Given the description of an element on the screen output the (x, y) to click on. 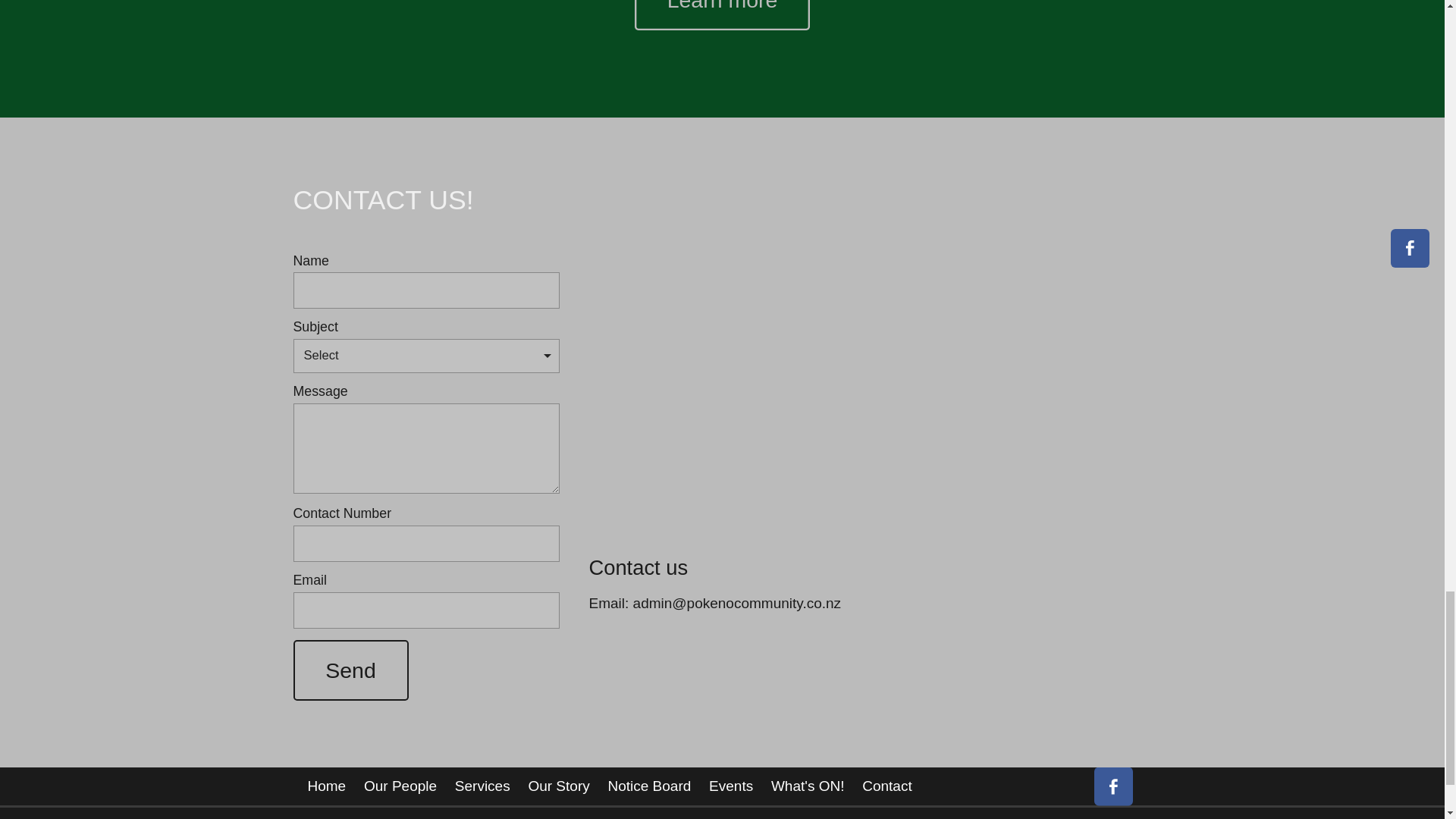
A link to this website's Facebook. (1112, 786)
What's ON! (807, 786)
Events (730, 786)
Contact (886, 786)
Learn more (721, 15)
Send (349, 670)
Home (331, 786)
Our People (400, 786)
Our Story (558, 786)
Services (482, 786)
